Given the description of an element on the screen output the (x, y) to click on. 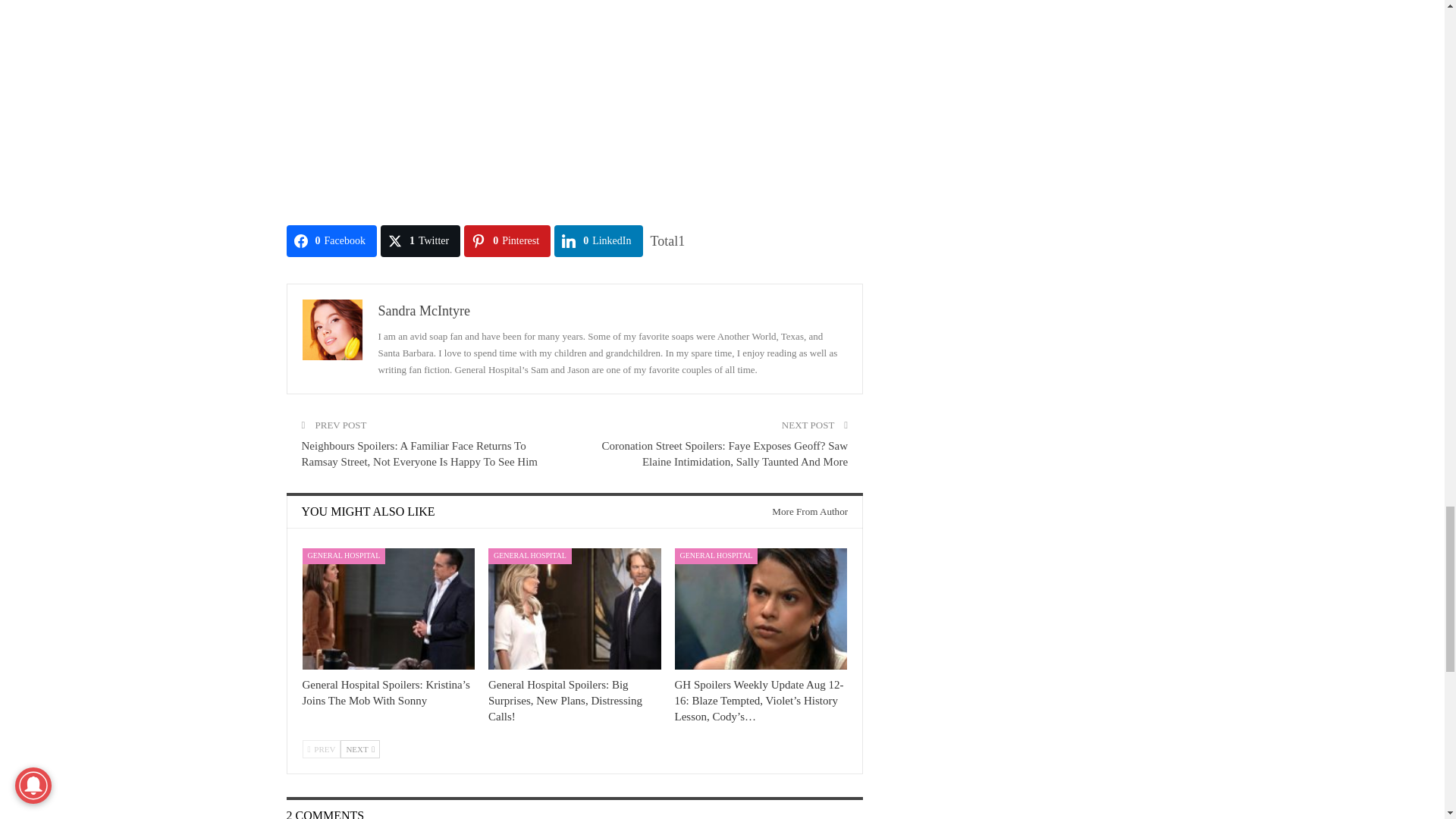
Share on LinkedIn (598, 241)
Share on Pinterest (507, 241)
Share on Twitter (420, 241)
Share on Facebook (331, 241)
General Hospital Clip: Lucy, What Have You Done? (574, 104)
Total (667, 240)
